Given the description of an element on the screen output the (x, y) to click on. 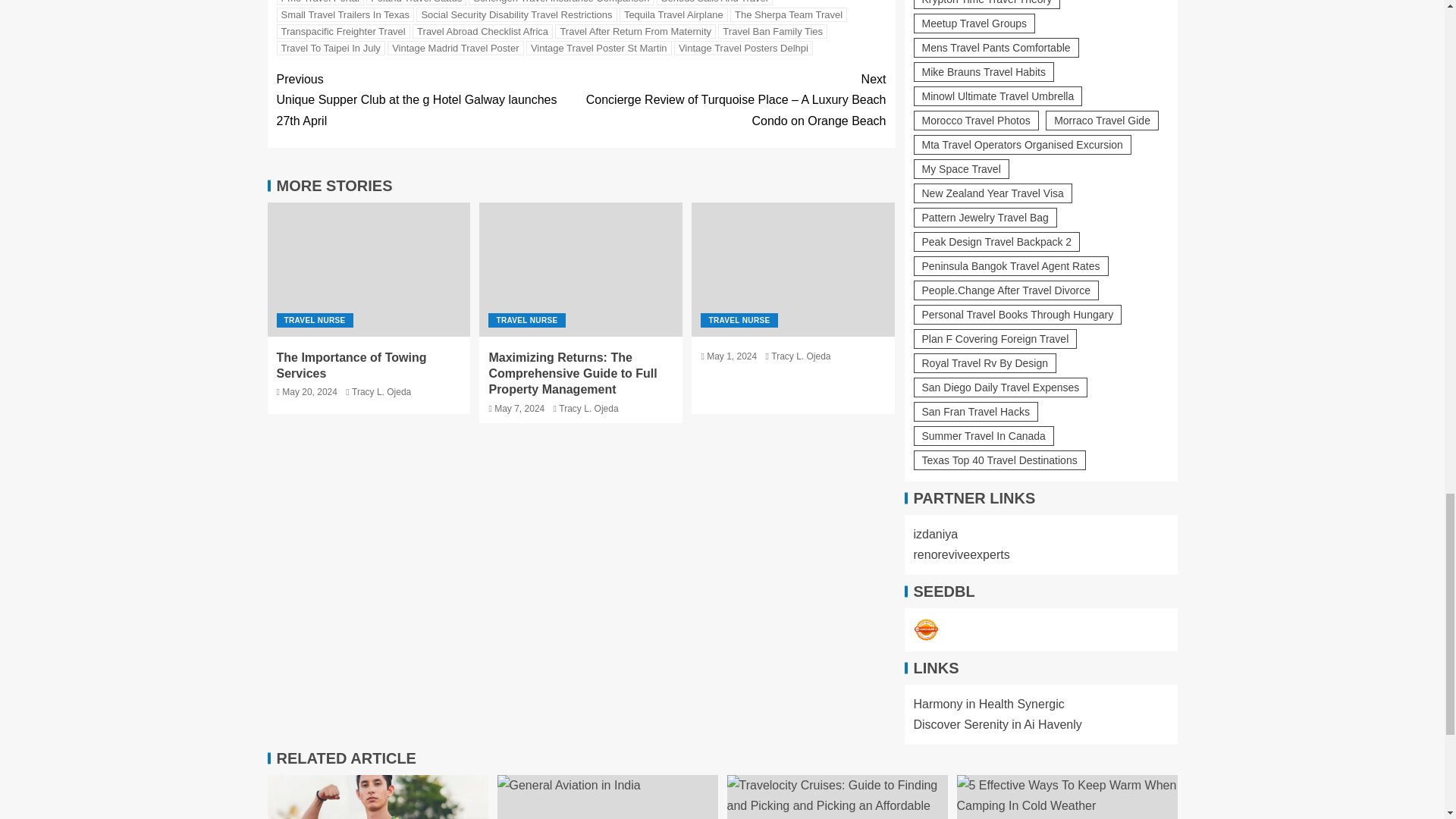
5 Effective Ways To Keep Warm When Camping In Cold Weather (1066, 796)
Seedbacklink (925, 629)
General Aviation in India (607, 796)
Top 10 Cheap Jamaica Hotels (376, 796)
